Given the description of an element on the screen output the (x, y) to click on. 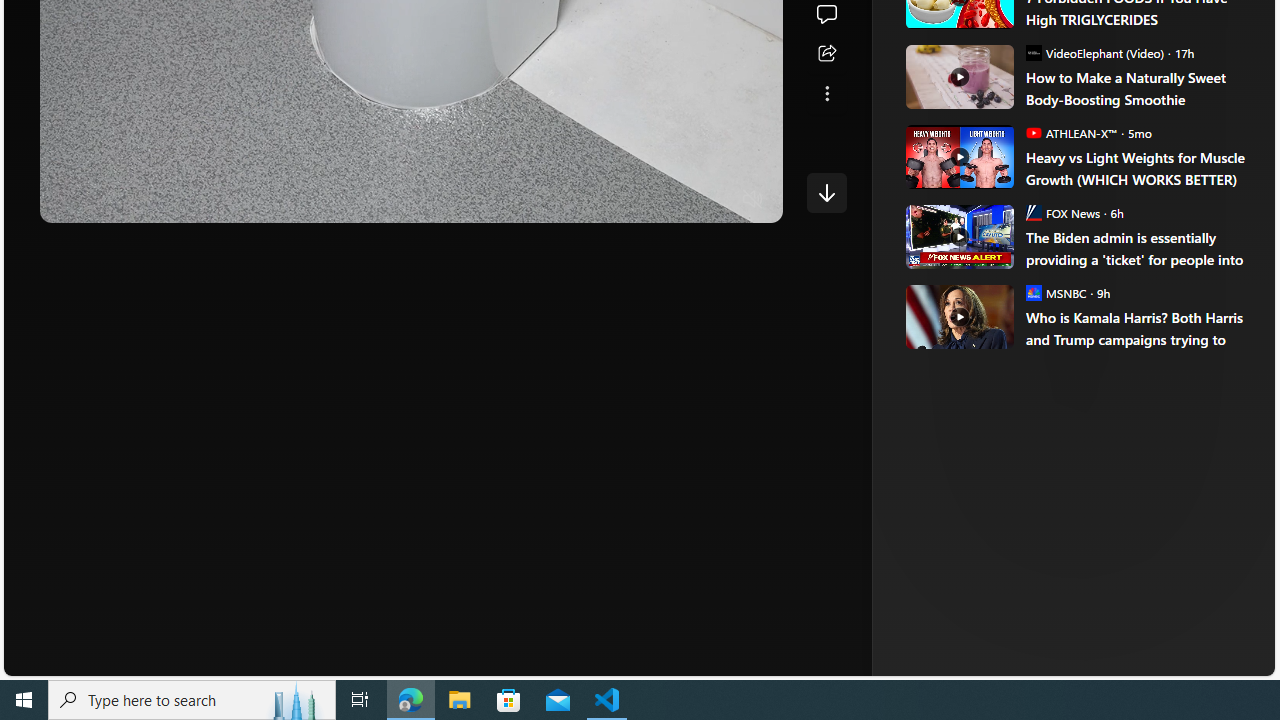
FOX News (1033, 212)
How to Make a Naturally Sweet Body-Boosting Smoothie (958, 75)
Share this story (826, 53)
Class: control (826, 192)
